Given the description of an element on the screen output the (x, y) to click on. 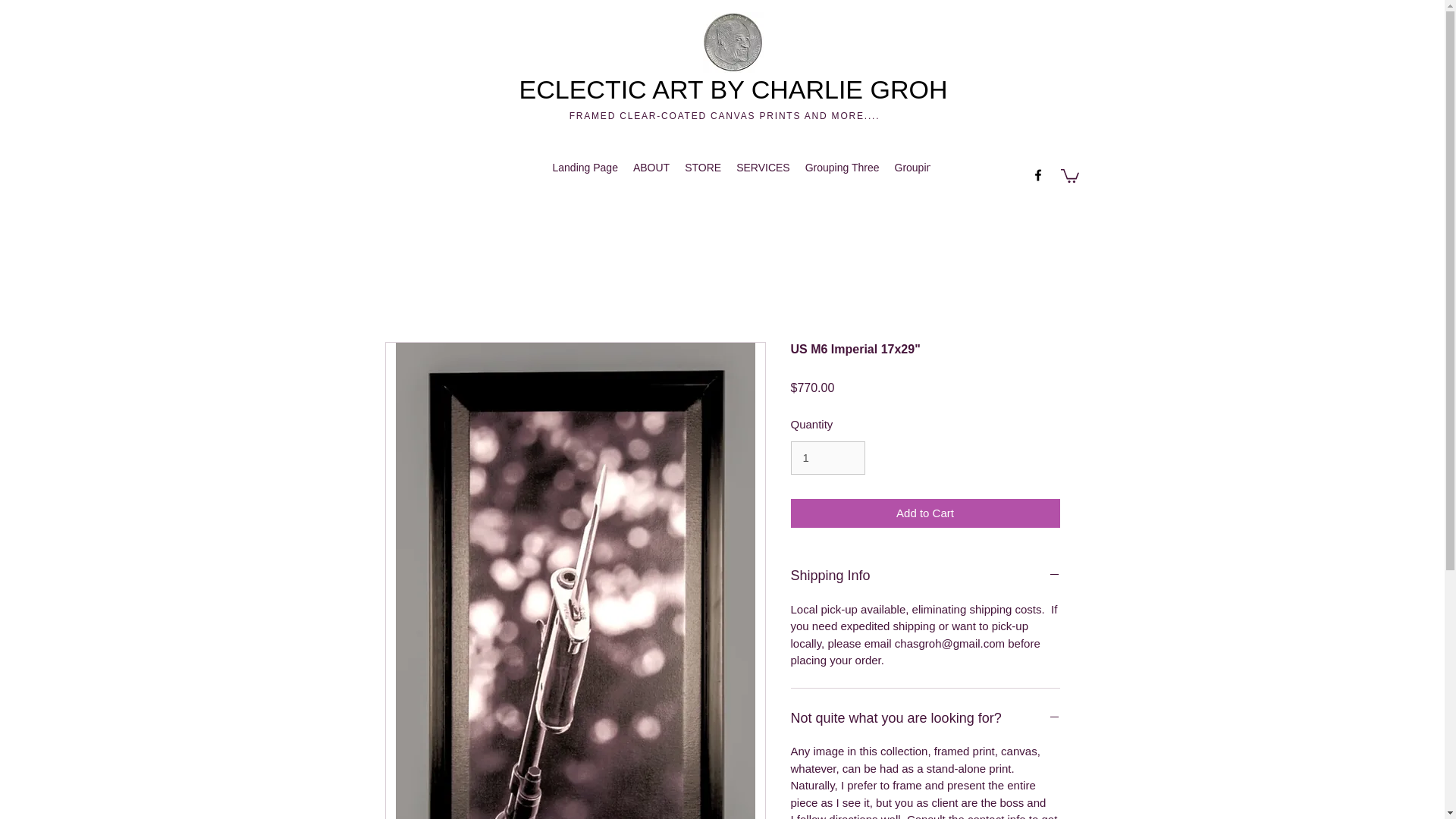
Add to Cart (924, 513)
Grouping Four (928, 170)
Not quite what you are looking for? (924, 718)
Landing Page (584, 170)
1 (827, 458)
STORE (703, 170)
ABOUT (651, 170)
Shipping Info (924, 576)
Grouping Three (841, 170)
ECLECTIC ART BY CHARLIE GROH (733, 89)
